Given the description of an element on the screen output the (x, y) to click on. 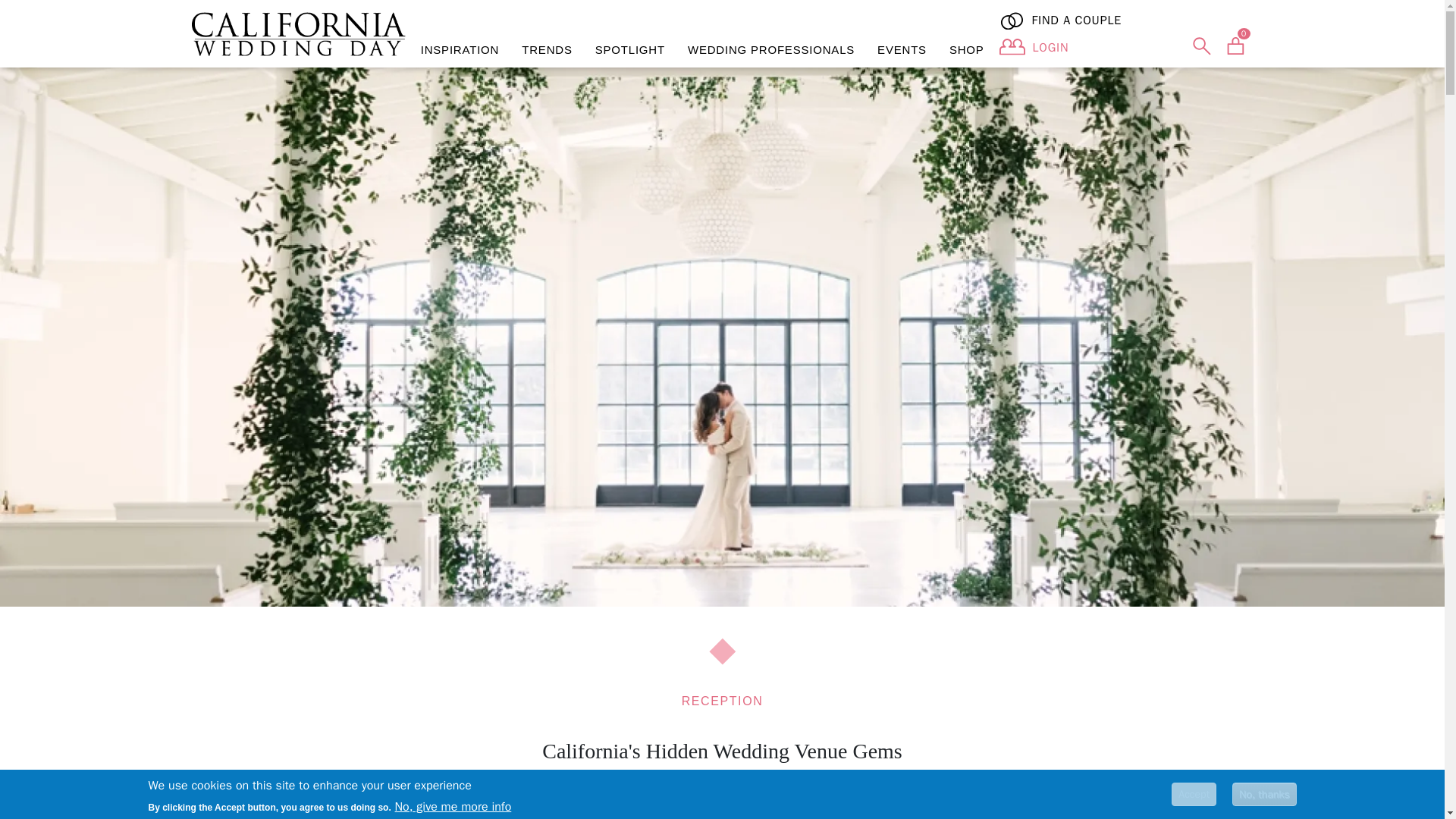
RECEPTION (721, 700)
TRENDS (547, 50)
FIND A COUPLE (1125, 20)
LOGIN (1050, 47)
Home (297, 34)
Skip to main content (60, 10)
INSPIRATION (460, 50)
WEDDING PROFESSIONALS (771, 50)
SHOP (966, 50)
SPOTLIGHT (630, 50)
EVENTS (901, 50)
